Given the description of an element on the screen output the (x, y) to click on. 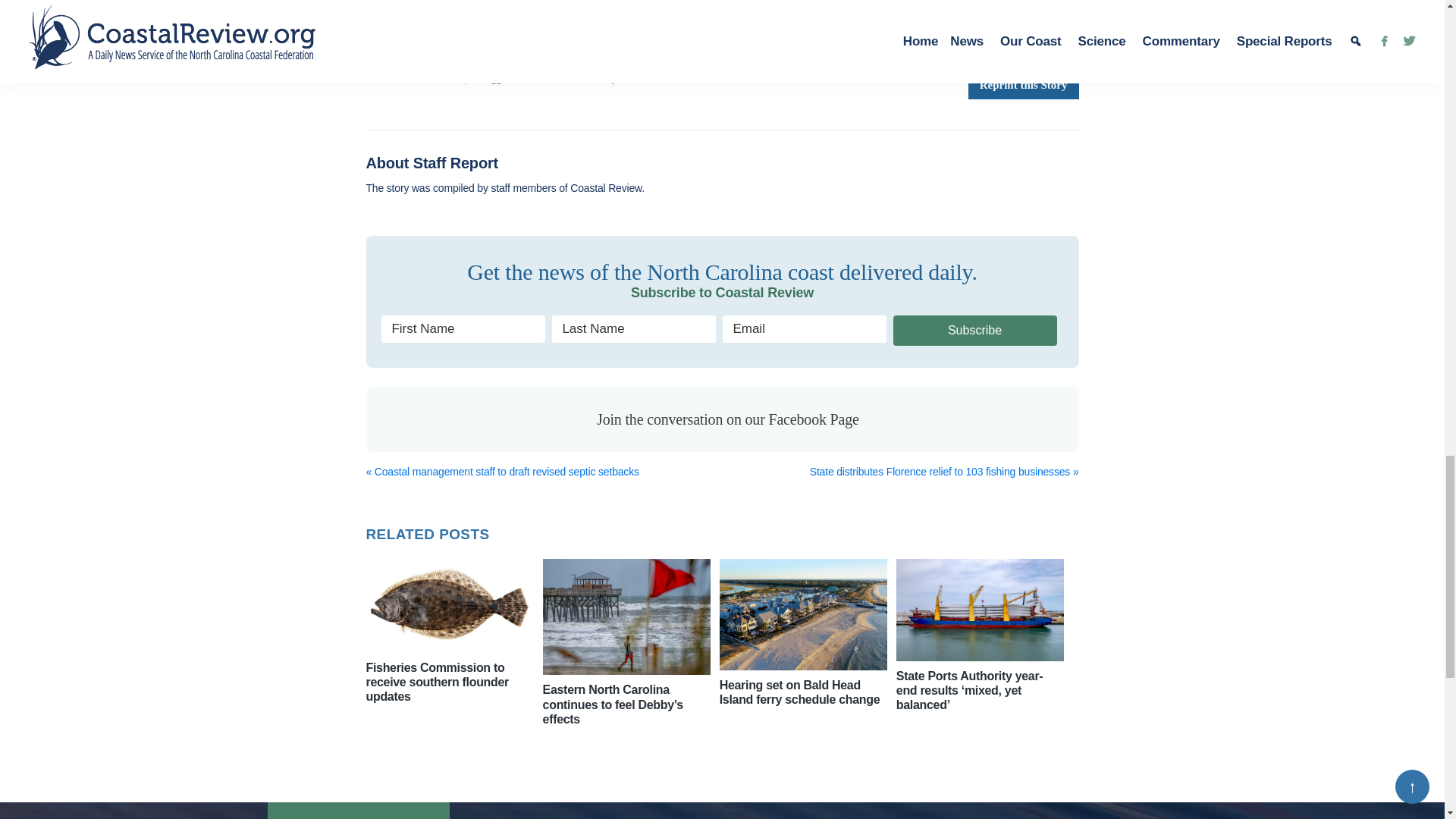
Subscribe (975, 330)
Google Classroom (445, 30)
Twitter (413, 30)
Email (477, 30)
PrintFriendly (508, 30)
Facebook (381, 30)
